Given the description of an element on the screen output the (x, y) to click on. 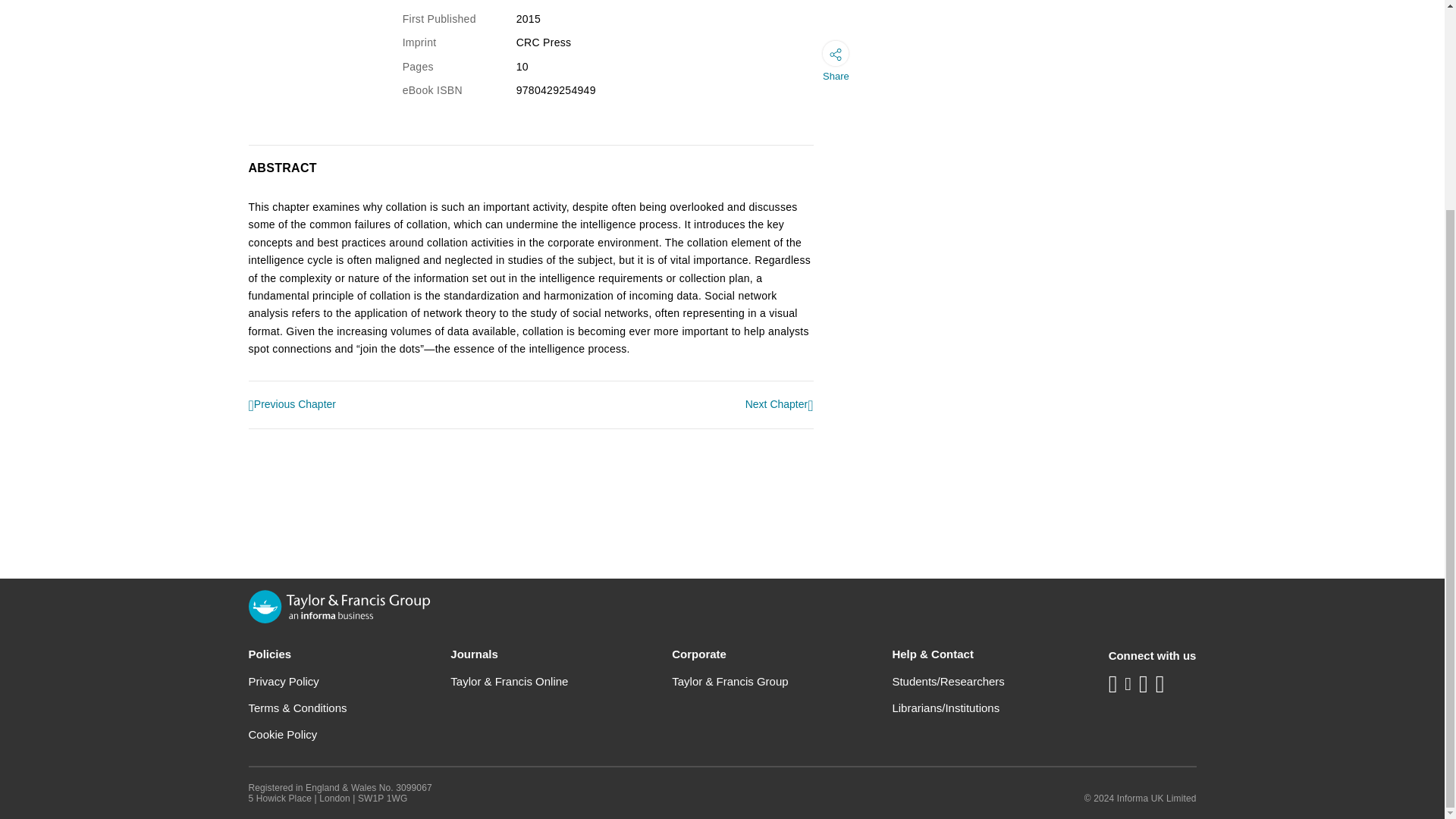
Cookie Policy (282, 734)
Intelligence Collection (292, 405)
Next Chapter (779, 404)
Previous Chapter (292, 405)
Analysis (779, 404)
Privacy Policy (283, 681)
